Given the description of an element on the screen output the (x, y) to click on. 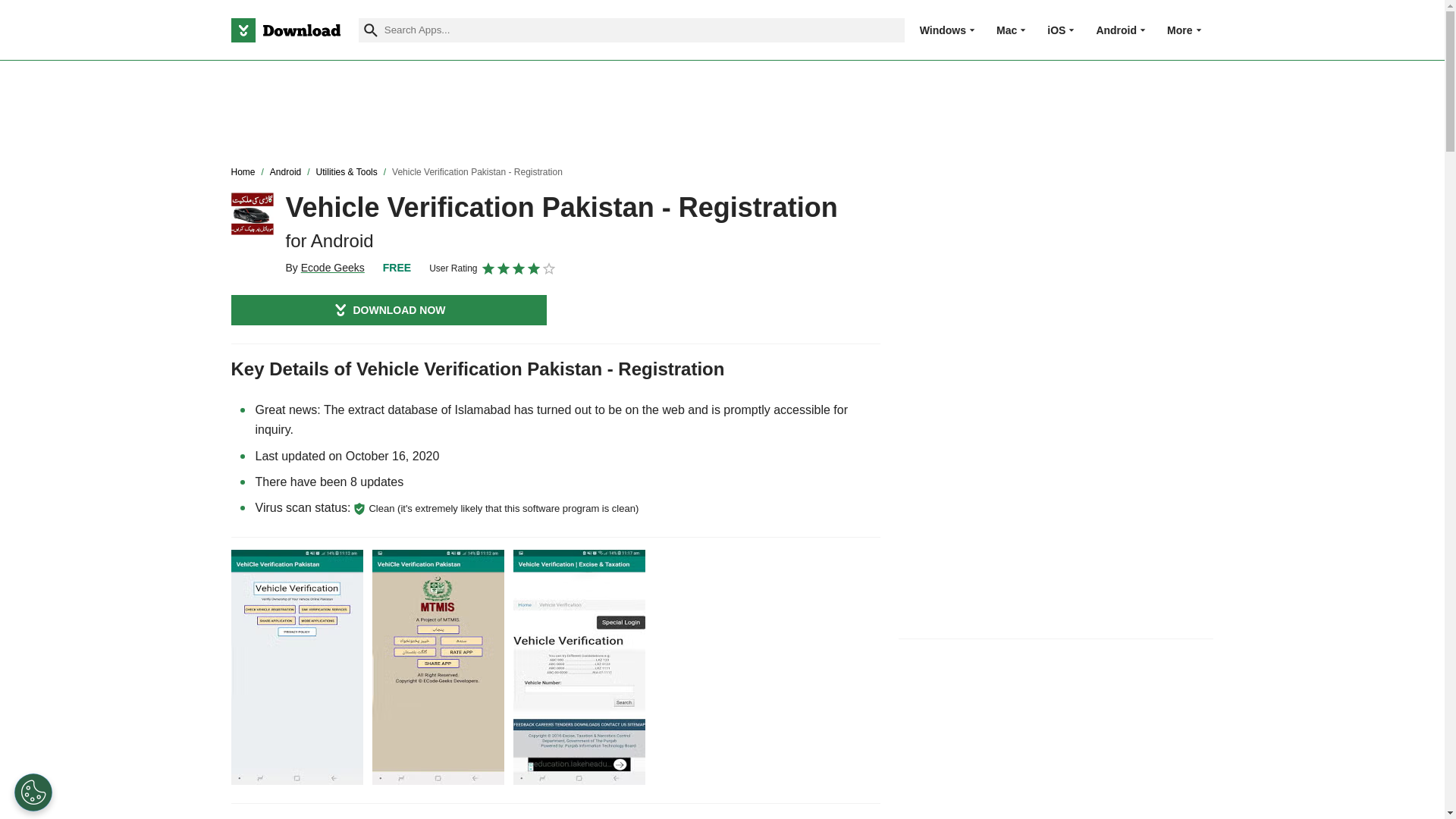
Vehicle Verification Pakistan - Registration for Android (251, 213)
Windows (943, 29)
Mac (1005, 29)
